Given the description of an element on the screen output the (x, y) to click on. 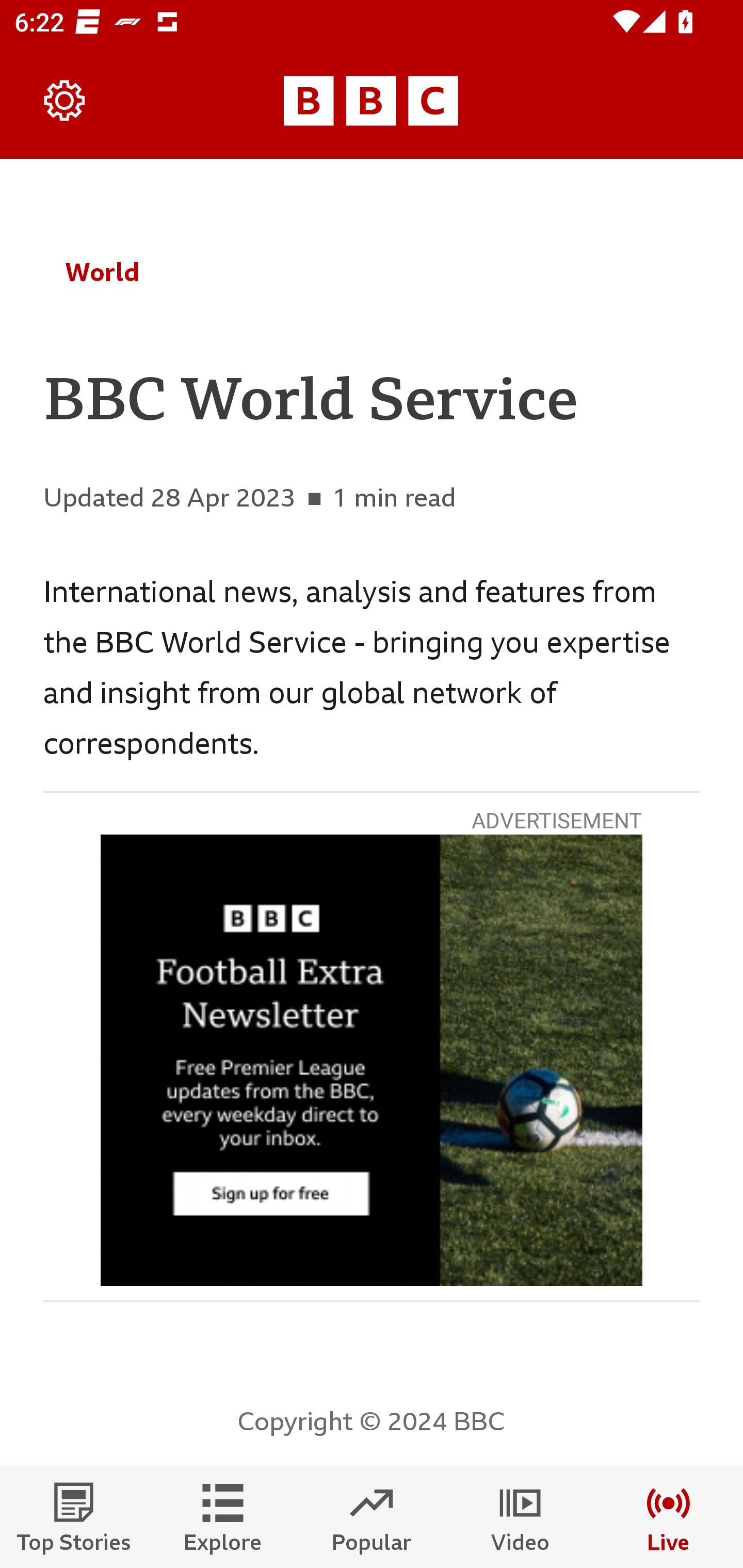
Settings (64, 100)
World (102, 271)
Top Stories (74, 1517)
Explore (222, 1517)
Popular (371, 1517)
Video (519, 1517)
